Given the description of an element on the screen output the (x, y) to click on. 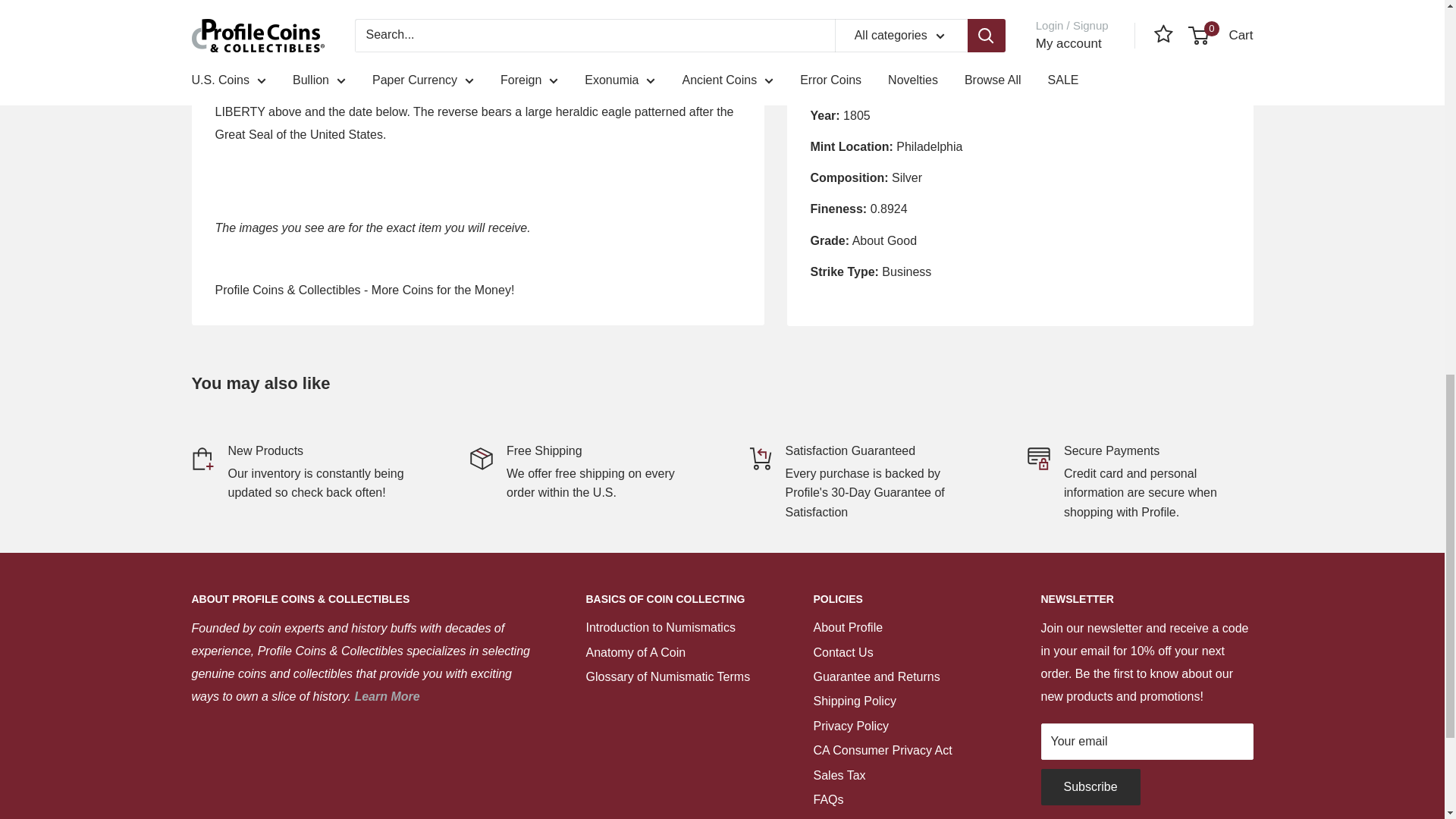
About Profile Coins (386, 696)
